Given the description of an element on the screen output the (x, y) to click on. 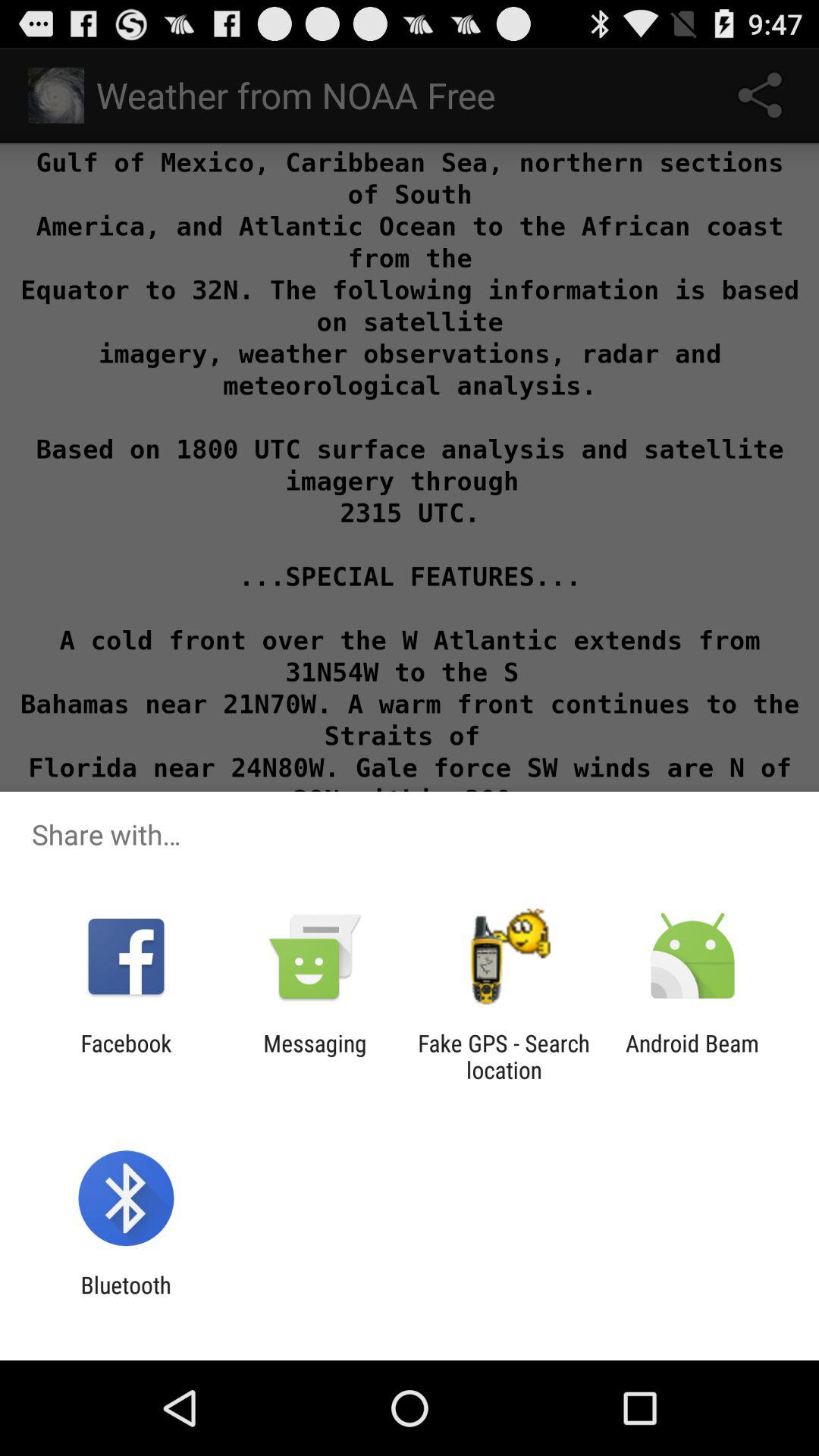
press item next to android beam icon (503, 1056)
